Given the description of an element on the screen output the (x, y) to click on. 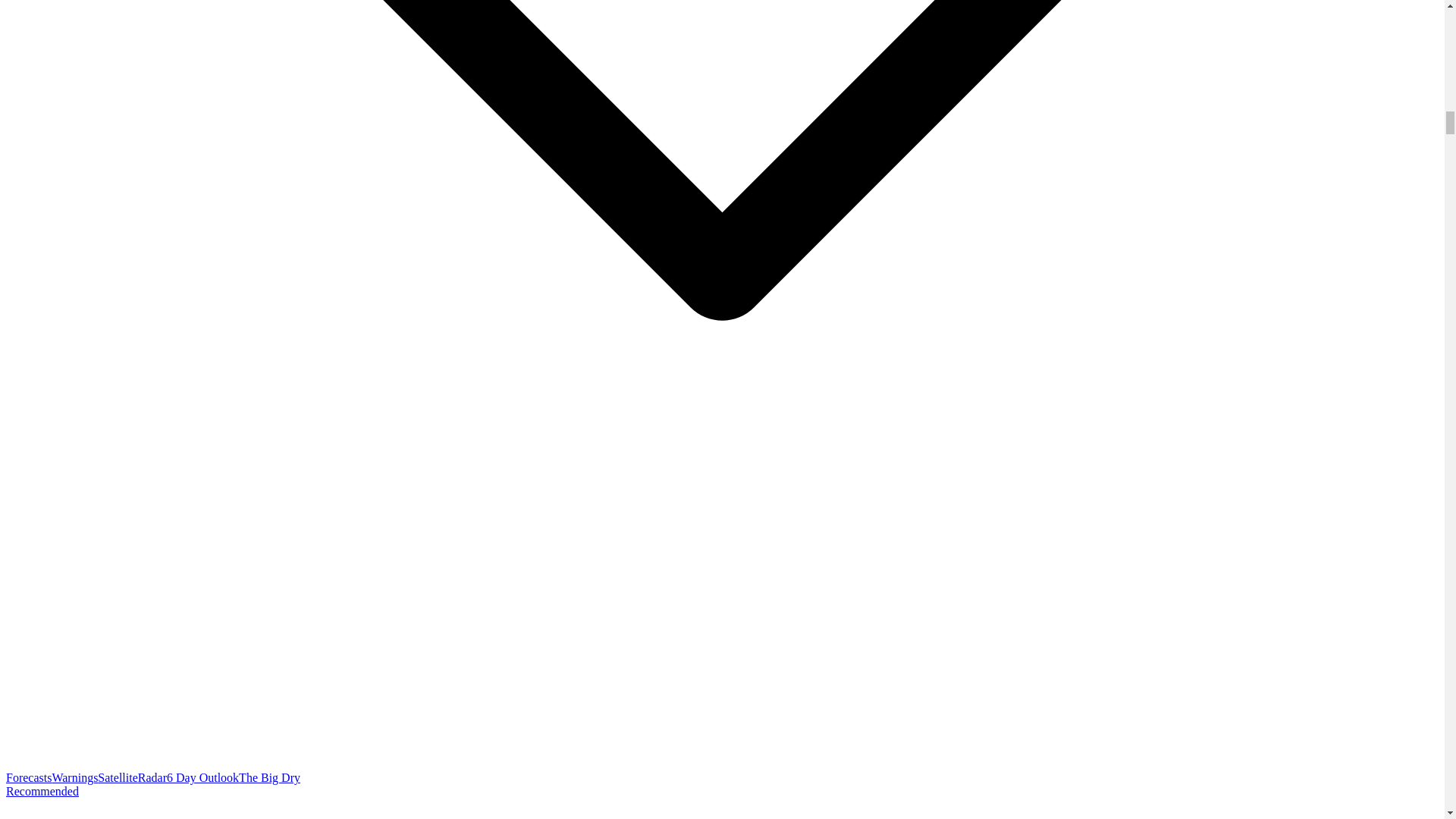
Forecasts (27, 777)
